Given the description of an element on the screen output the (x, y) to click on. 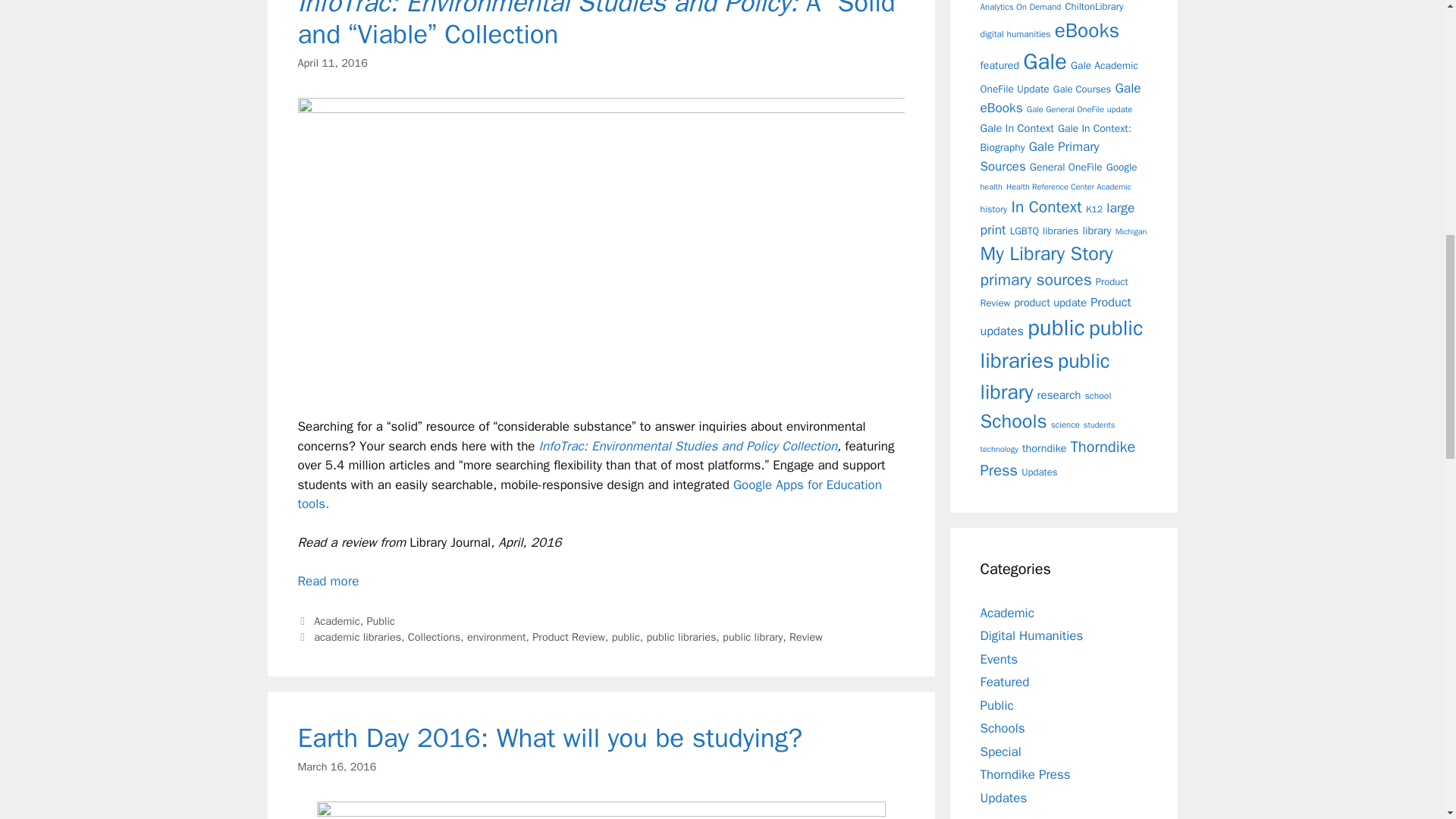
Scroll back to top (1406, 720)
environment (496, 636)
academic libraries (357, 636)
Product Review (568, 636)
Google Apps for Education tools. (588, 494)
Collections (433, 636)
Academic (336, 621)
public (625, 636)
Public (380, 621)
InfoTrac: Environmental Studies and Policy Collection (687, 446)
